Given the description of an element on the screen output the (x, y) to click on. 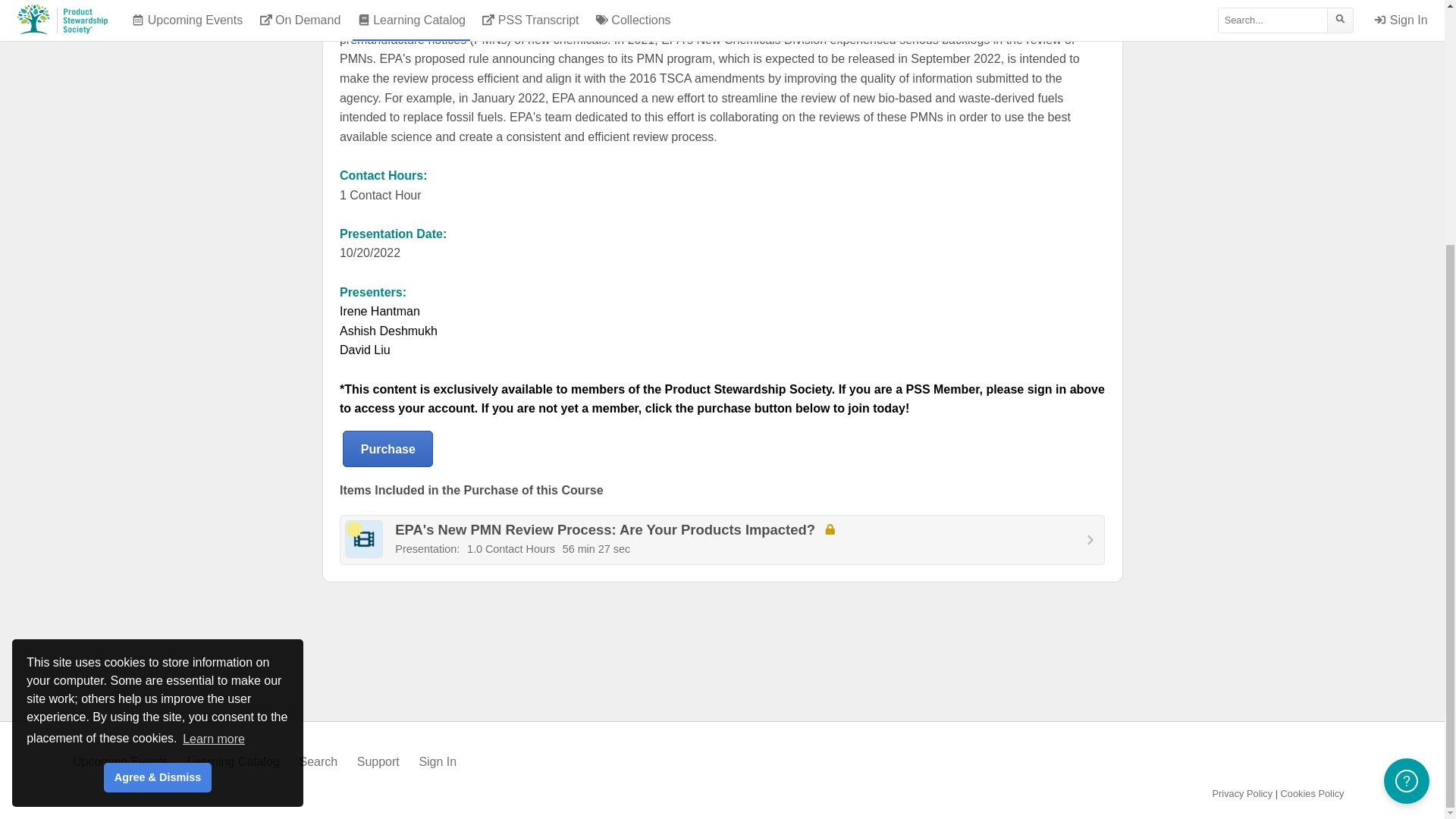
Learn more (213, 397)
Upcoming Events (119, 761)
Cookies Policy (1312, 793)
Search (317, 761)
EPA's New PMN Review Process: Are Your Products Impacted? (722, 540)
Upcoming Events (119, 761)
Search (317, 761)
Sign In (438, 761)
Purchase (387, 448)
Learning Catalog (233, 761)
Learning Catalog (233, 761)
Privacy Policy (1243, 793)
Support (377, 761)
Support (377, 761)
